Given the description of an element on the screen output the (x, y) to click on. 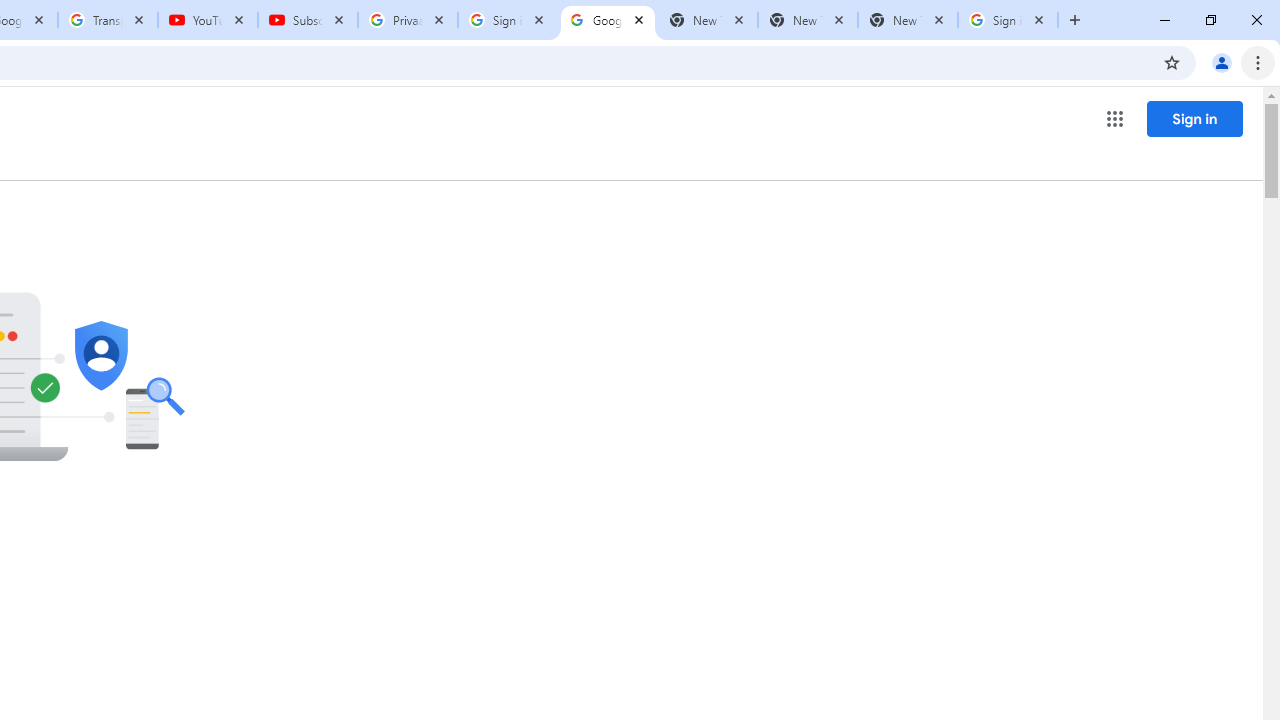
YouTube (207, 20)
Subscriptions - YouTube (308, 20)
Sign in - Google Accounts (1007, 20)
Sign in - Google Accounts (508, 20)
New Tab (907, 20)
